Given the description of an element on the screen output the (x, y) to click on. 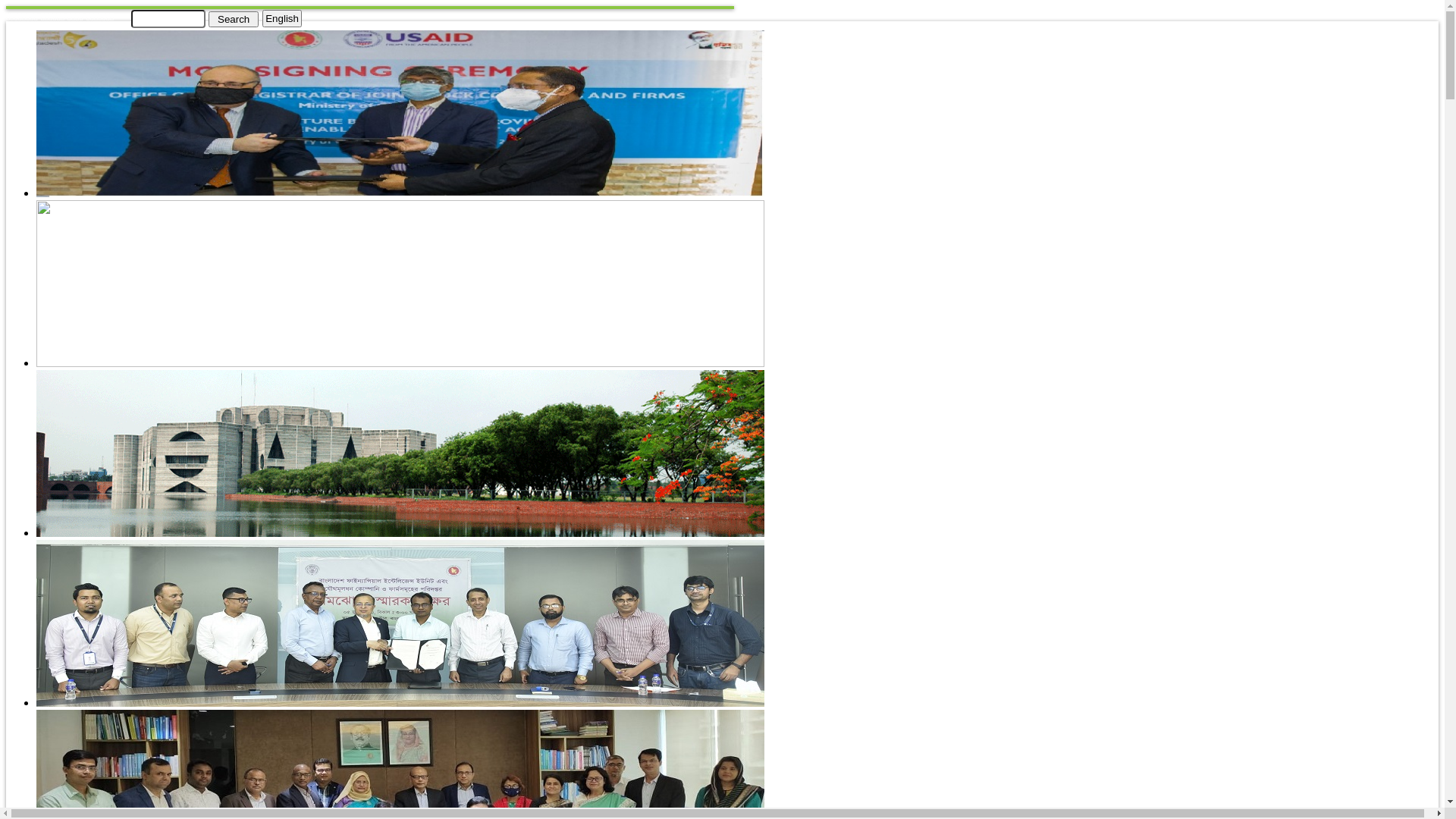
Search Element type: text (233, 18)
English Element type: text (281, 18)
